Given the description of an element on the screen output the (x, y) to click on. 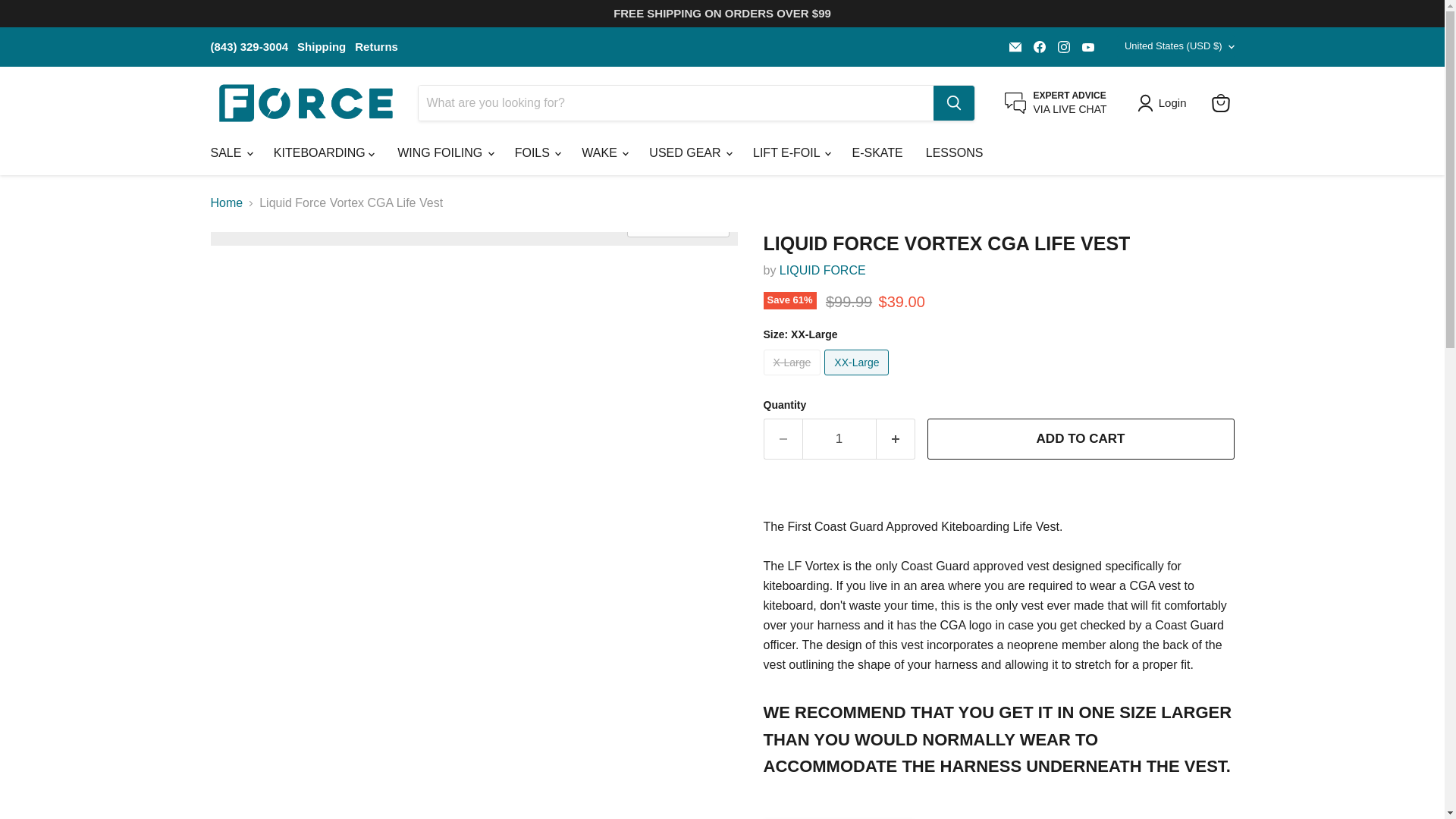
Instagram (1063, 46)
1 (839, 438)
Find us on Facebook (1039, 46)
YouTube (1088, 46)
Email Force Kiteboarding (1015, 46)
Find us on Instagram (1063, 46)
LIQUID FORCE (822, 269)
Facebook (1039, 46)
Returns (376, 46)
Email (1015, 46)
